Given the description of an element on the screen output the (x, y) to click on. 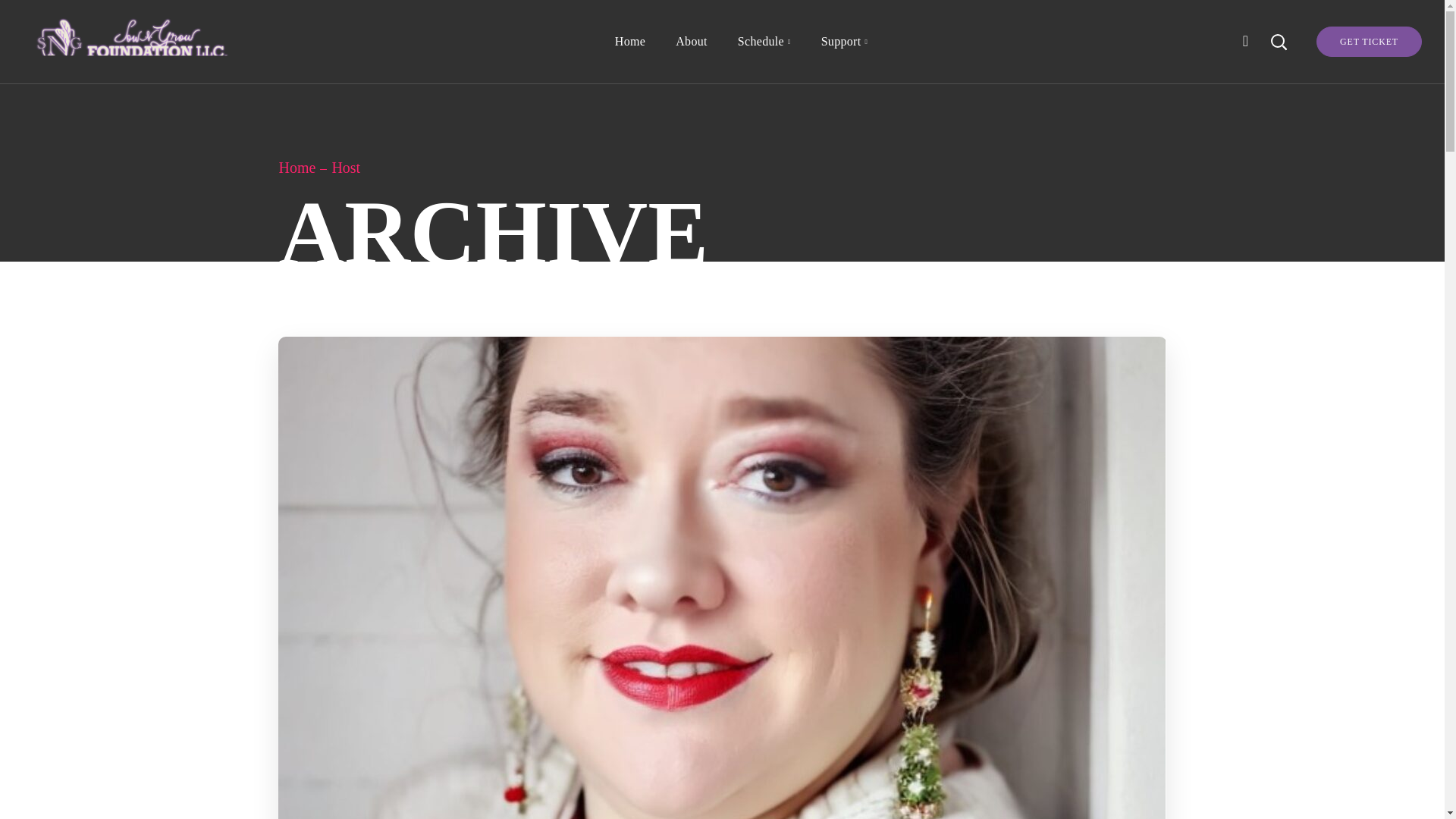
Support (844, 41)
Schedule (764, 41)
Search (1238, 121)
Search (1238, 38)
GET TICKET (1369, 41)
